Given the description of an element on the screen output the (x, y) to click on. 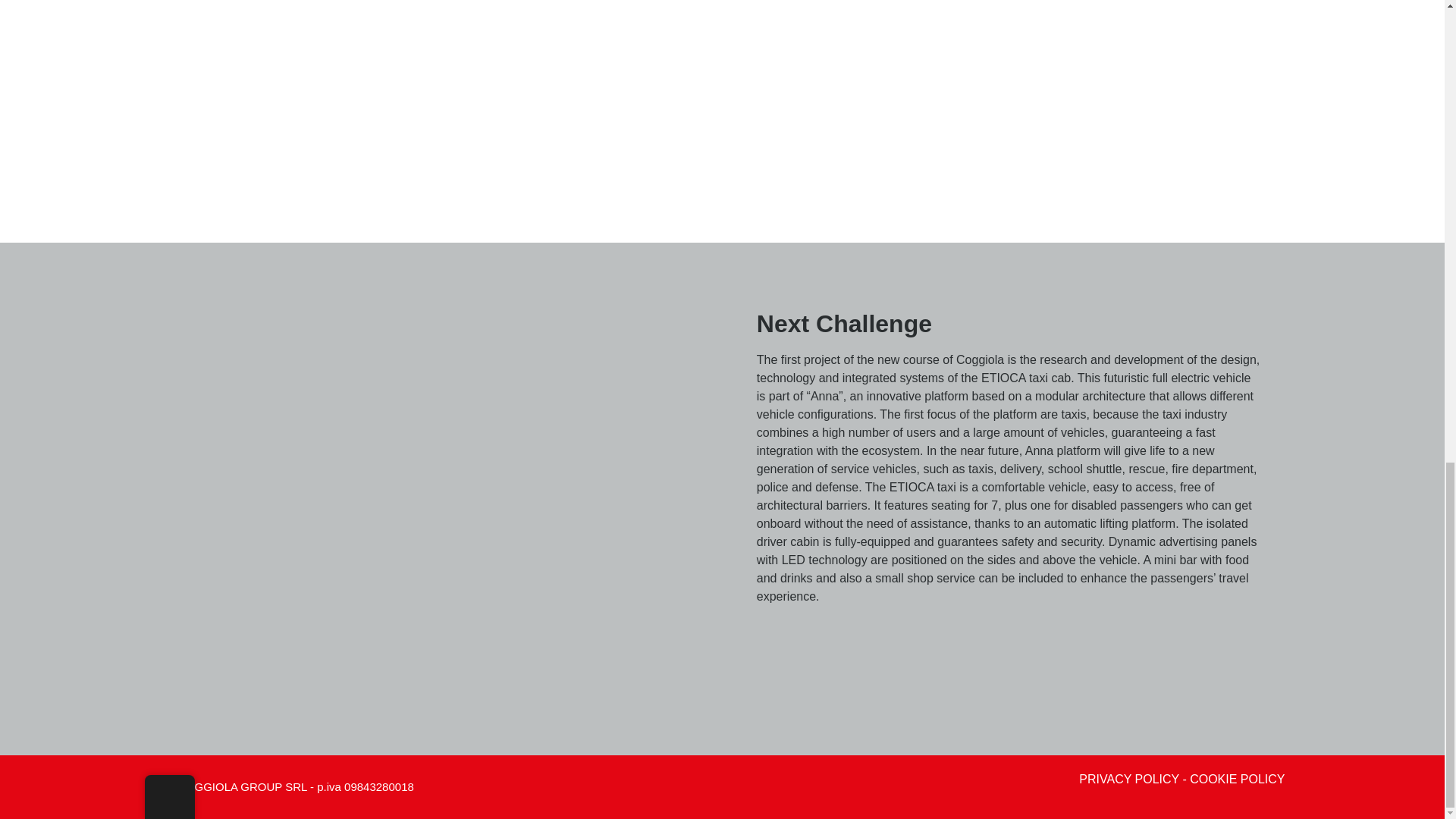
COGGIOLA GROUP SRL - p.iva 09843280018 (295, 786)
PRIVACY POLICY (1128, 779)
Privacy Policy  (1128, 779)
COOKIE POLICY (1236, 779)
Cookie Policy  (1236, 779)
